Given the description of an element on the screen output the (x, y) to click on. 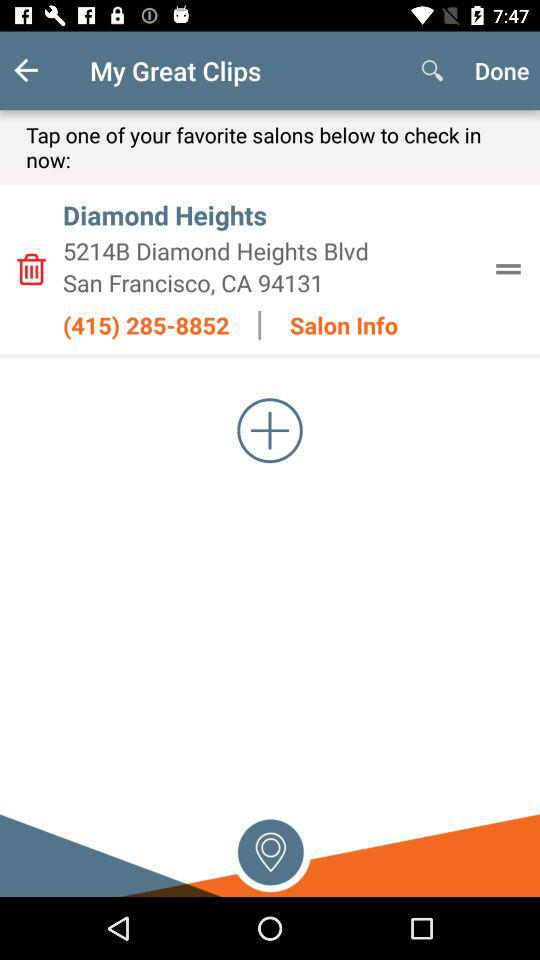
click the icon below san francisco ca item (146, 325)
